Given the description of an element on the screen output the (x, y) to click on. 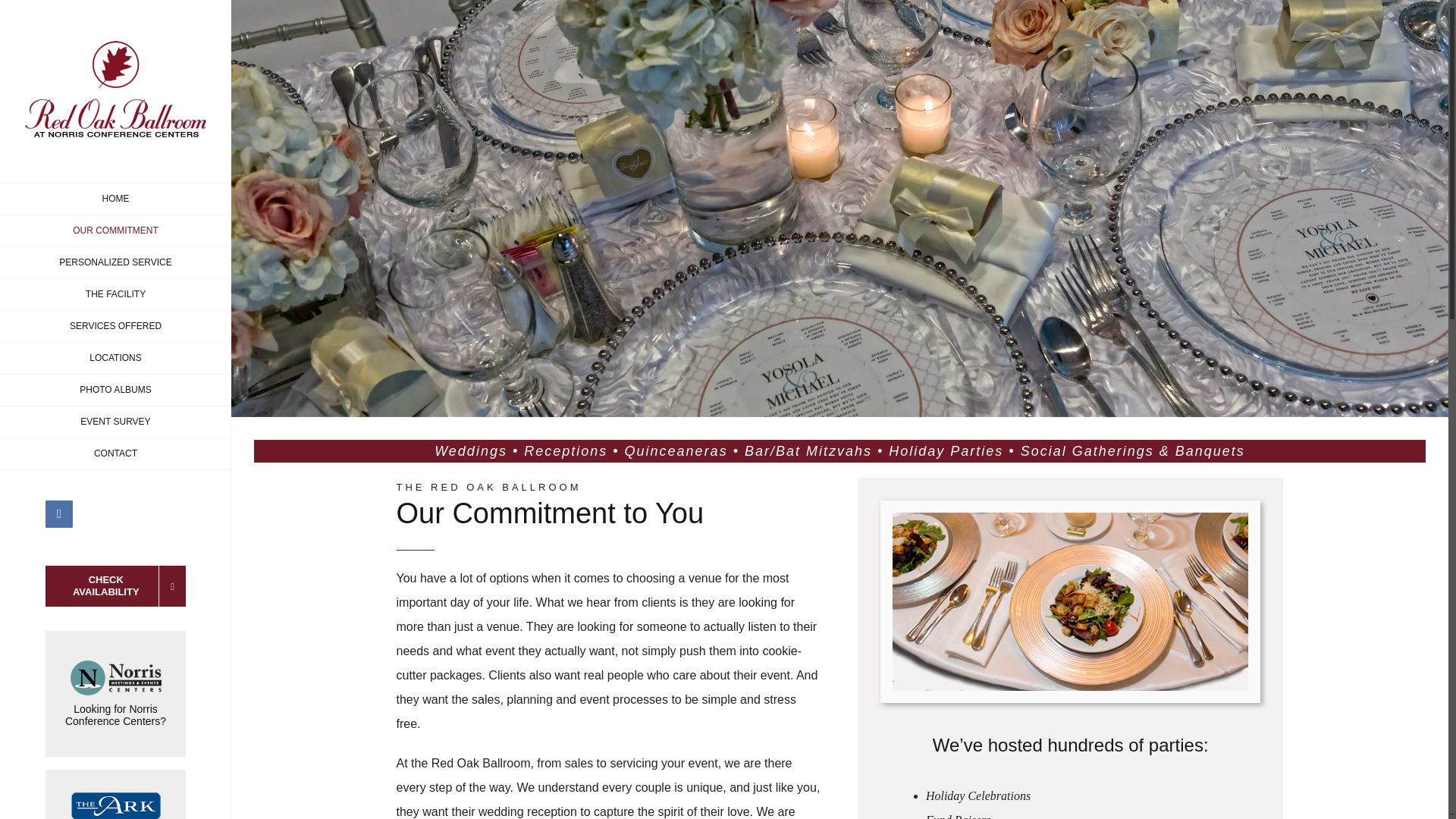
OUR COMMITMENT (115, 231)
PERSONALIZED SERVICE (115, 263)
CHECK AVAILABILITY (115, 585)
SERVICES OFFERED (115, 327)
Facebook (58, 513)
EVENT SURVEY (115, 422)
HOME (115, 198)
CONTACT (115, 454)
LOCATIONS (115, 358)
THE FACILITY (115, 295)
PHOTO ALBUMS (115, 390)
dinner plate (1070, 601)
